Given the description of an element on the screen output the (x, y) to click on. 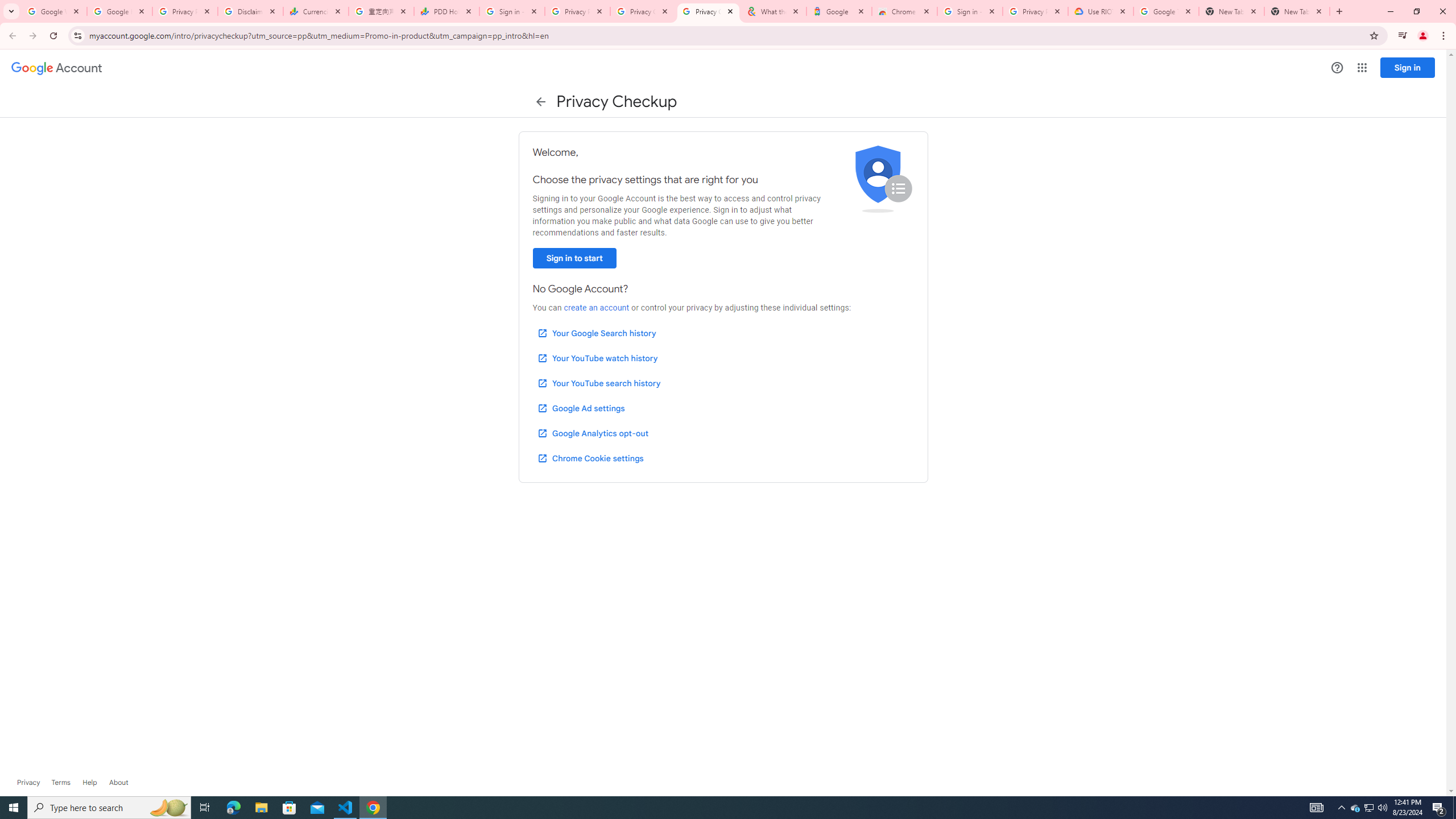
Privacy Checkup (708, 11)
Google Analytics opt-out (592, 433)
Learn more about Google Account (118, 782)
Sign in - Google Accounts (969, 11)
Your YouTube watch history (597, 358)
create an account (595, 307)
